Given the description of an element on the screen output the (x, y) to click on. 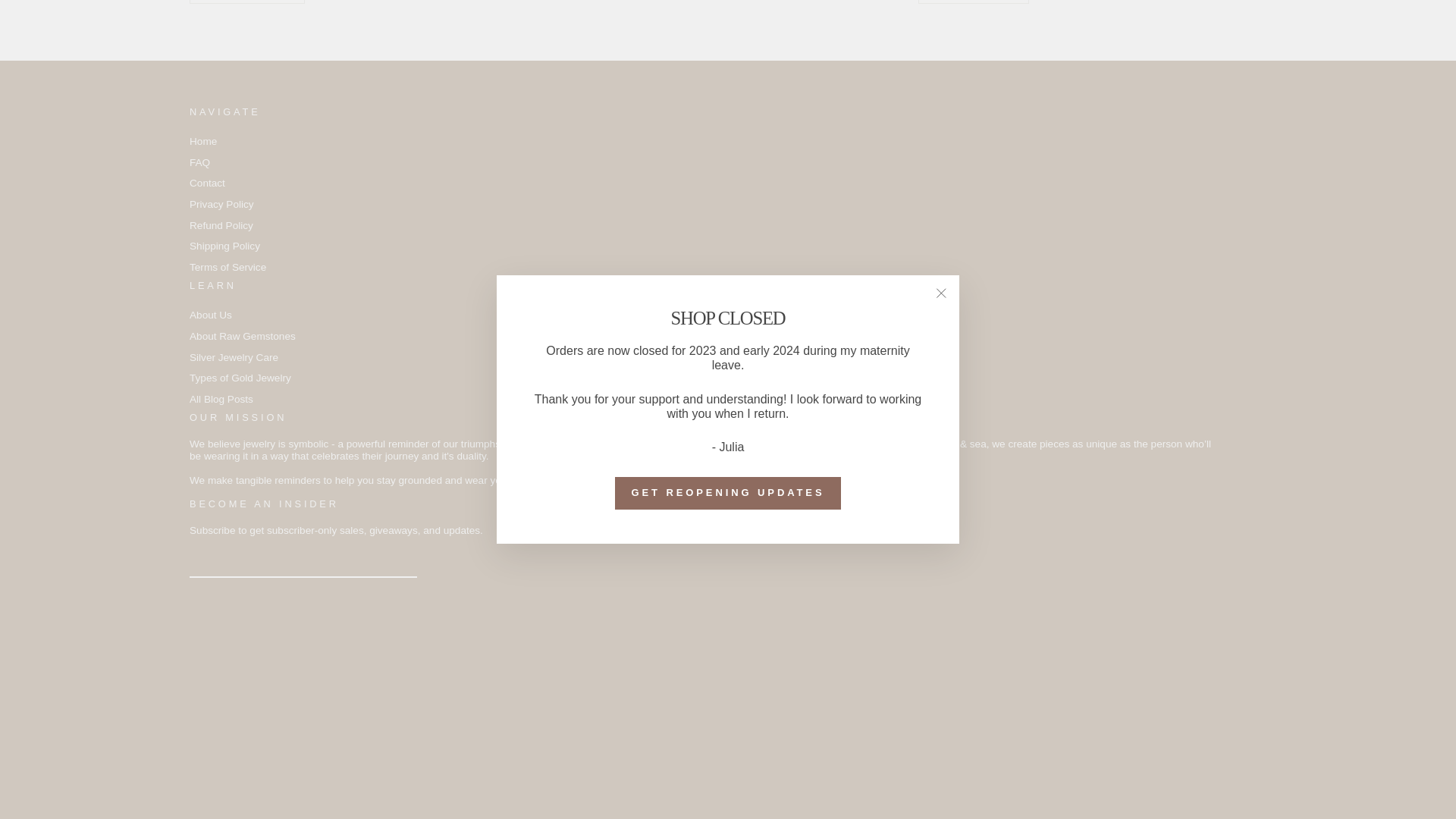
PayPal (450, 710)
Discover (311, 710)
Visa (555, 710)
Meta Pay (346, 710)
Shop Pay (485, 710)
Apple Pay (241, 710)
Mastercard (415, 710)
Google Pay (381, 710)
Venmo (520, 710)
Diners Club (276, 710)
American Express (206, 710)
